Given the description of an element on the screen output the (x, y) to click on. 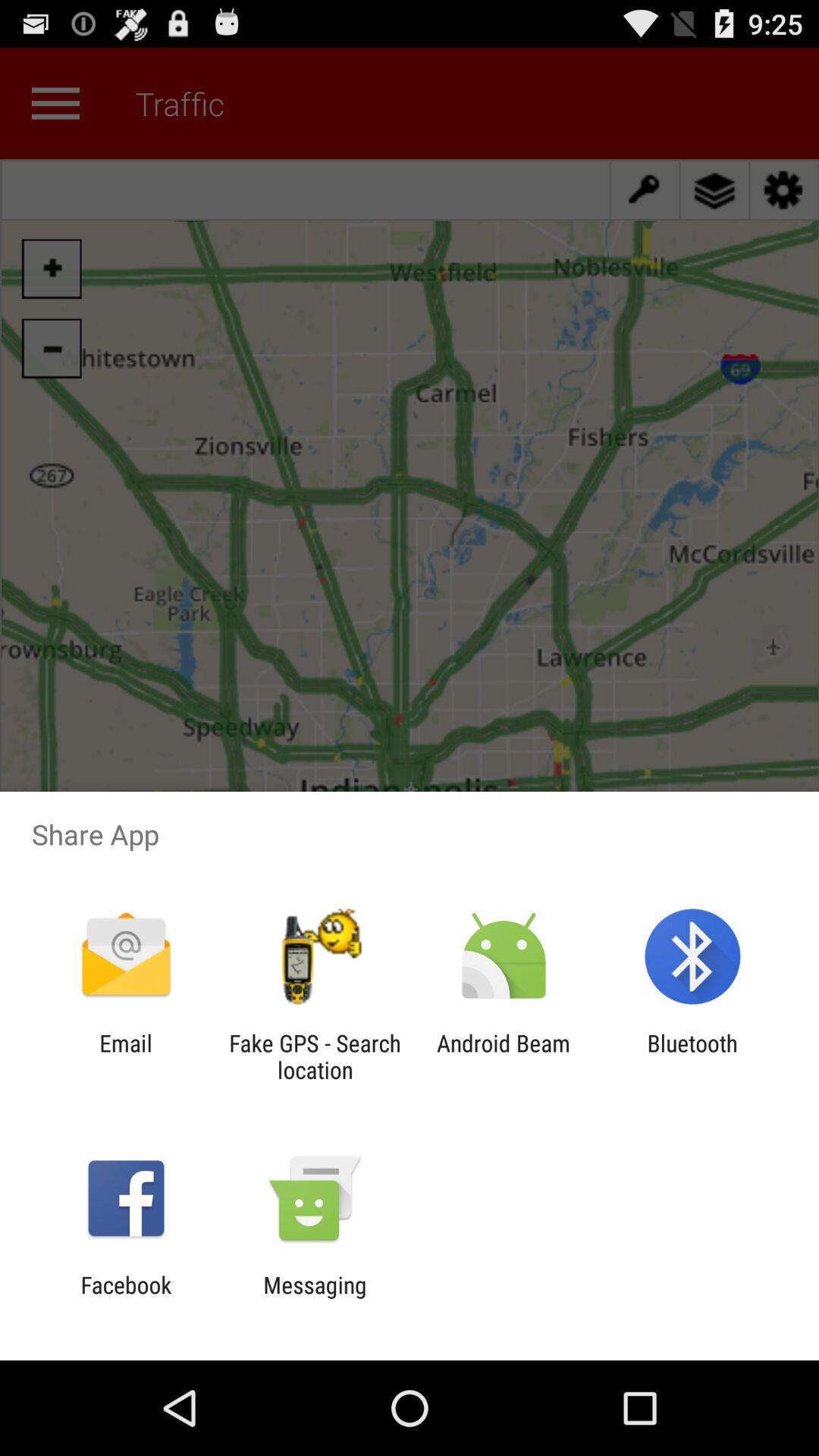
choose icon to the right of the email app (314, 1056)
